Given the description of an element on the screen output the (x, y) to click on. 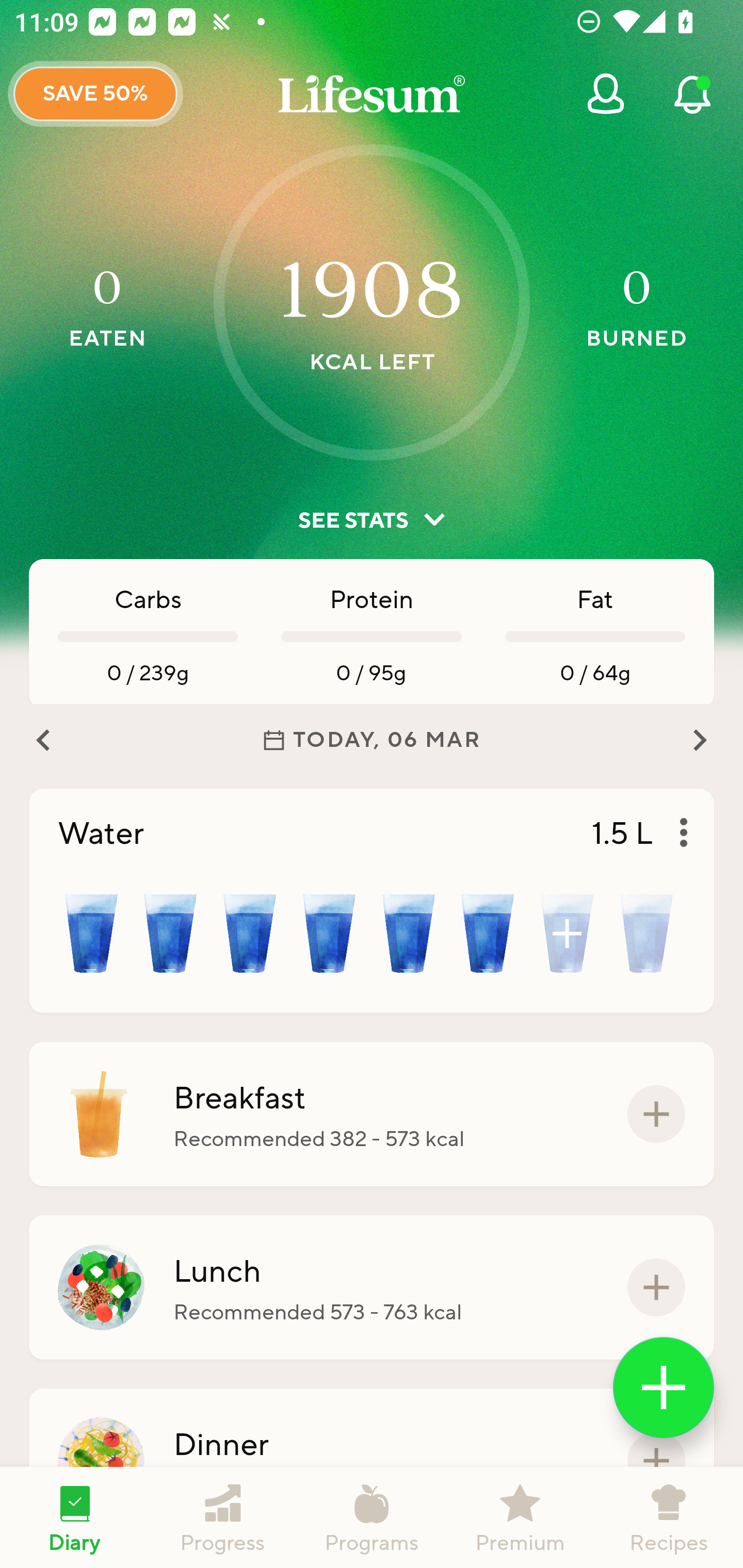
SEE STATS (371, 519)
TODAY, 06 MAR (371, 739)
Breakfast Recommended 382 - 573 kcal (371, 1113)
Lunch Recommended 573 - 763 kcal (371, 1287)
Dinner Recommended 573 - 763 kcal (371, 1461)
Progress (222, 1517)
Programs (371, 1517)
Premium (519, 1517)
Recipes (668, 1517)
